Given the description of an element on the screen output the (x, y) to click on. 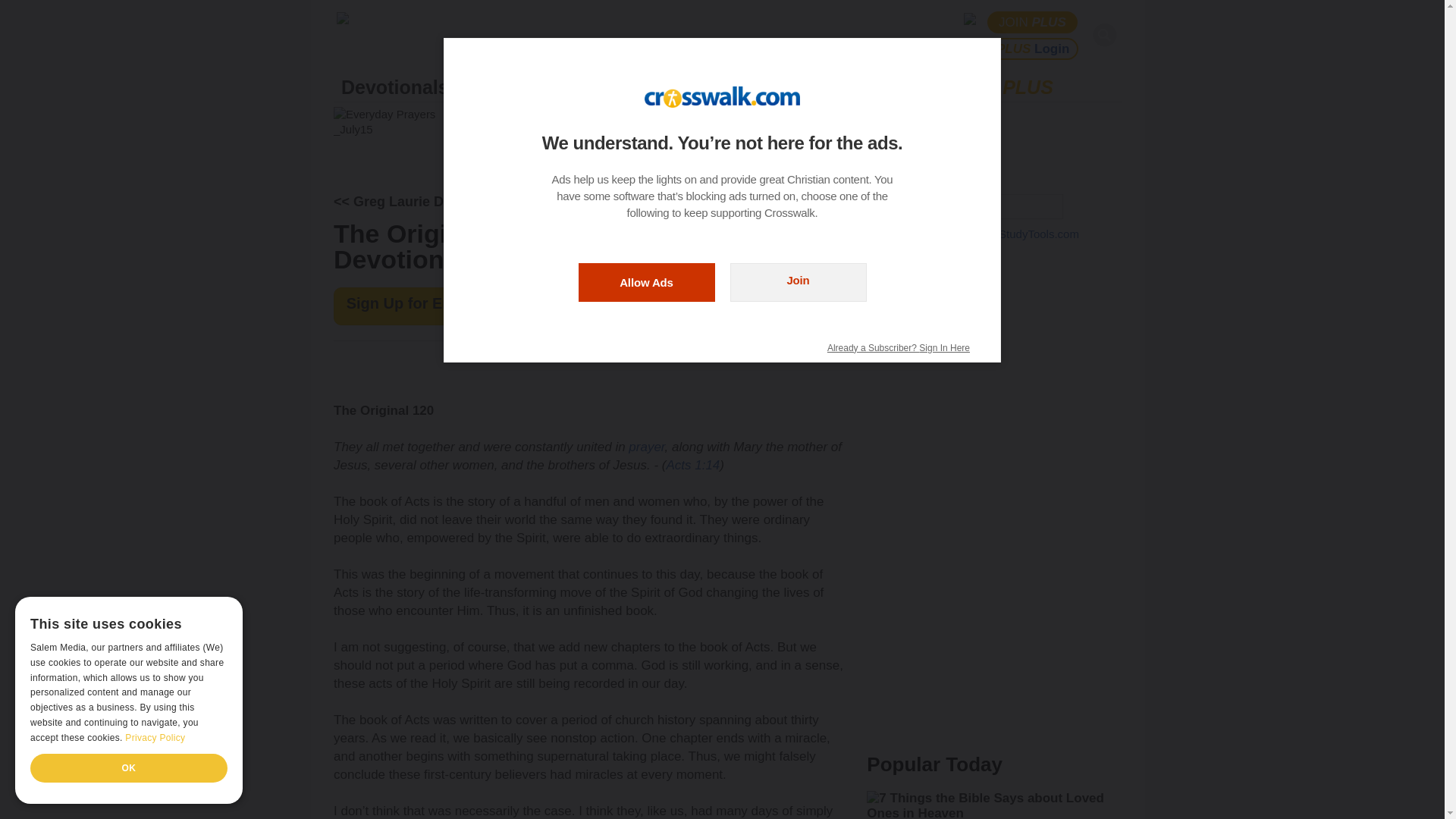
PLUS Login (1032, 48)
Join Plus (1032, 22)
Search (1107, 34)
JOIN PLUS (1032, 22)
Plus Login (1032, 48)
Devotionals (394, 87)
